Given the description of an element on the screen output the (x, y) to click on. 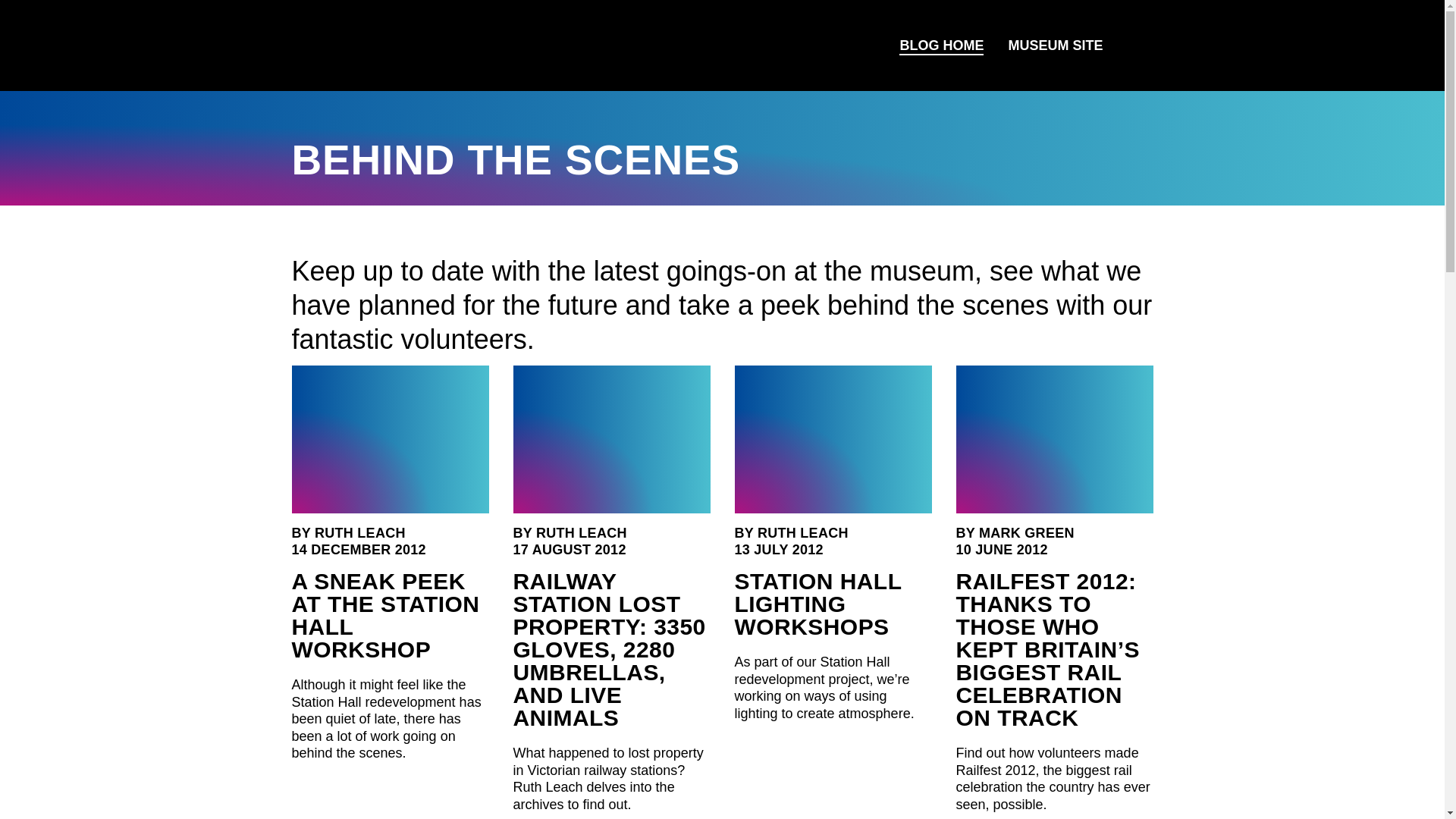
MARK GREEN (1026, 532)
13 JULY 2012 (777, 549)
A SNEAK PEEK AT THE STATION HALL WORKSHOP (385, 614)
17 AUGUST 2012 (569, 549)
OPEN SEARCH (1134, 45)
RUTH LEACH (802, 532)
OPEN SEARCH (1133, 45)
STATION HALL LIGHTING WORKSHOPS (817, 603)
BLOG HOME (940, 44)
10 JUNE 2012 (1000, 549)
RUTH LEACH (360, 532)
RUTH LEACH (581, 532)
MUSEUM SITE (1055, 44)
14 DECEMBER 2012 (358, 549)
